Given the description of an element on the screen output the (x, y) to click on. 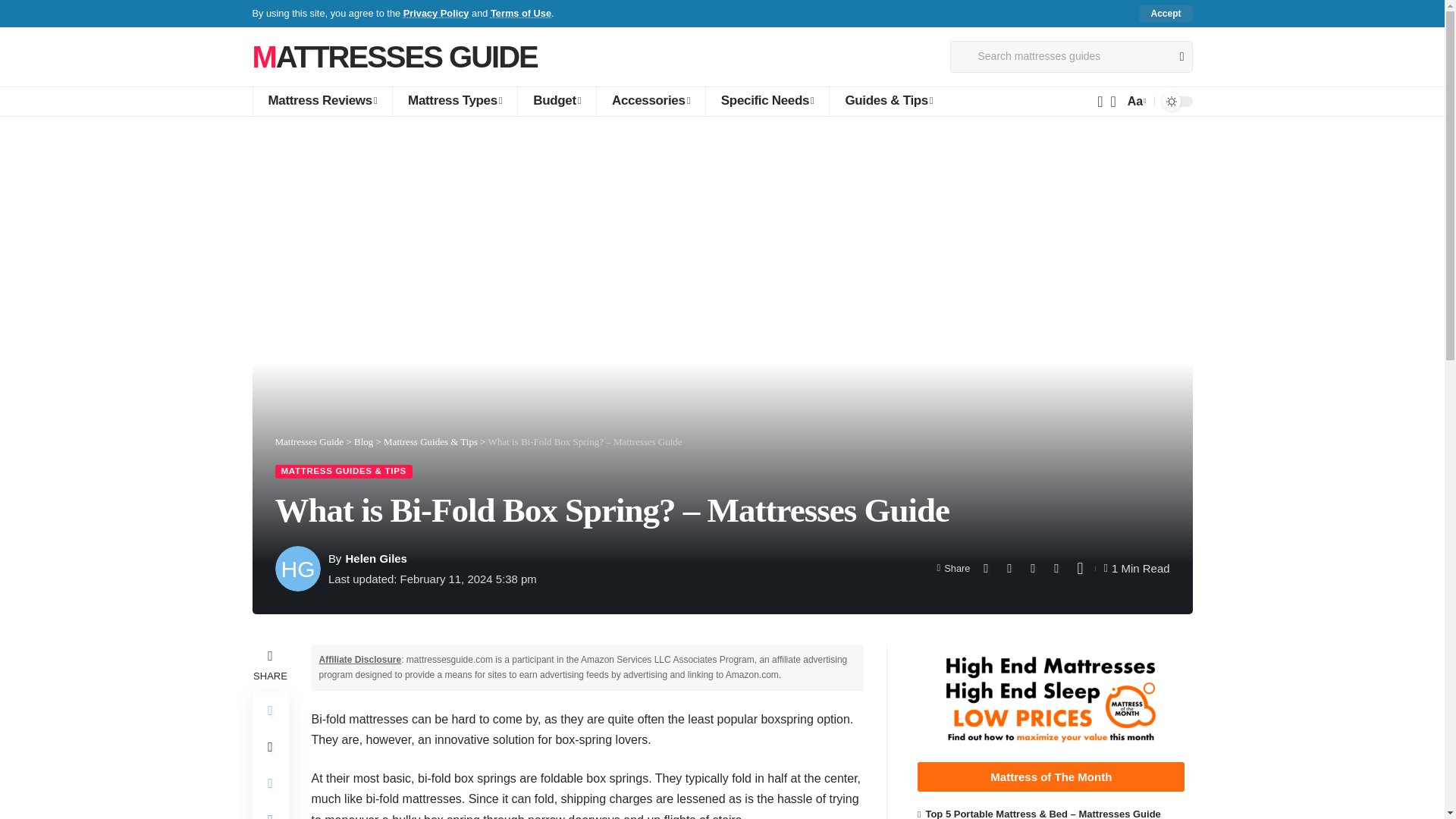
Terms of Use (520, 12)
Budget (555, 101)
Mattress Reviews (321, 101)
Mattresses Guide (394, 56)
Privacy Policy (435, 12)
Go to Mattresses Guide. (309, 441)
Search (1175, 56)
MATTRESSES GUIDE (394, 56)
Specific Needs (766, 101)
Mattress Types (453, 101)
